Given the description of an element on the screen output the (x, y) to click on. 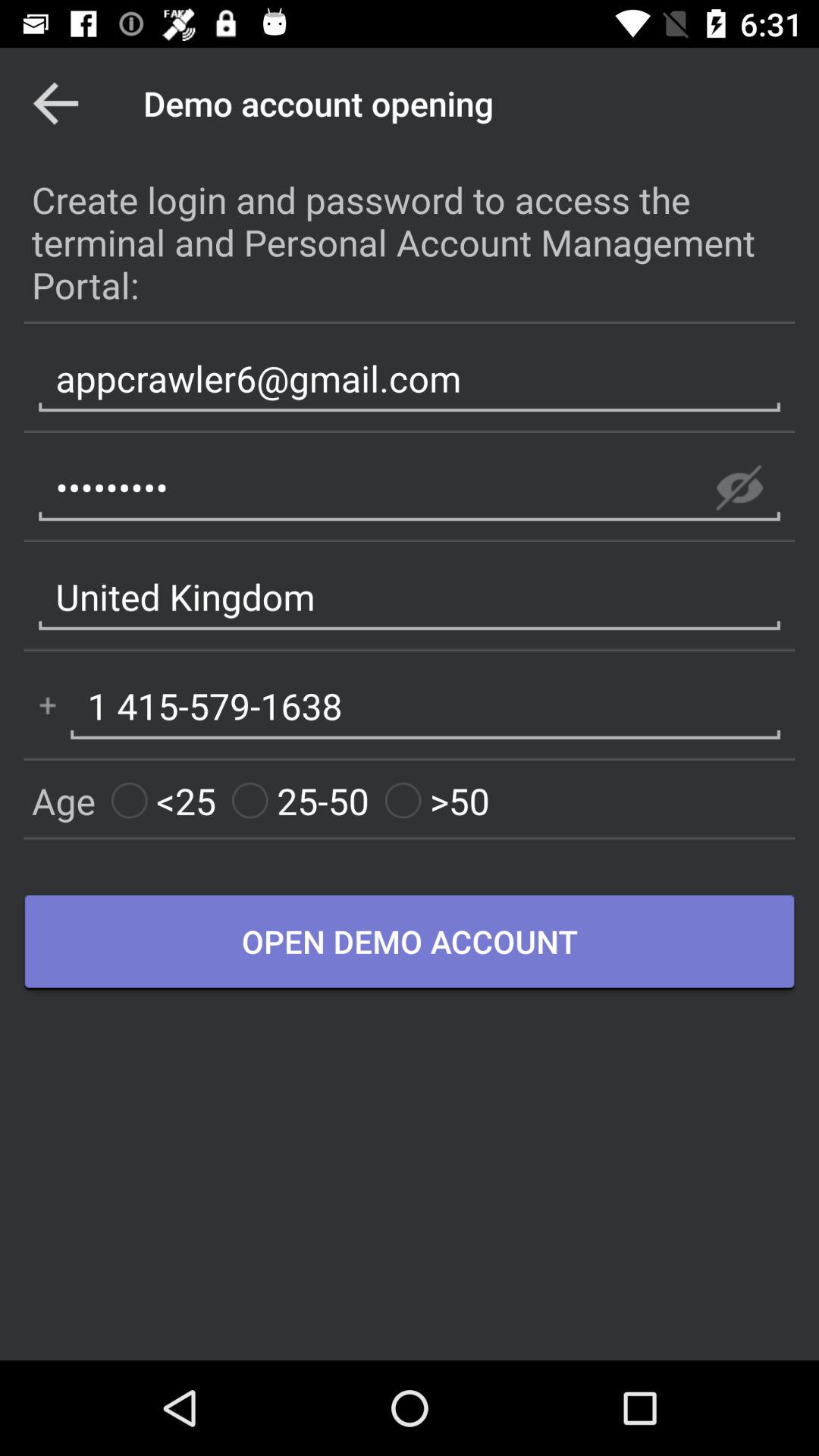
go back (55, 103)
